Given the description of an element on the screen output the (x, y) to click on. 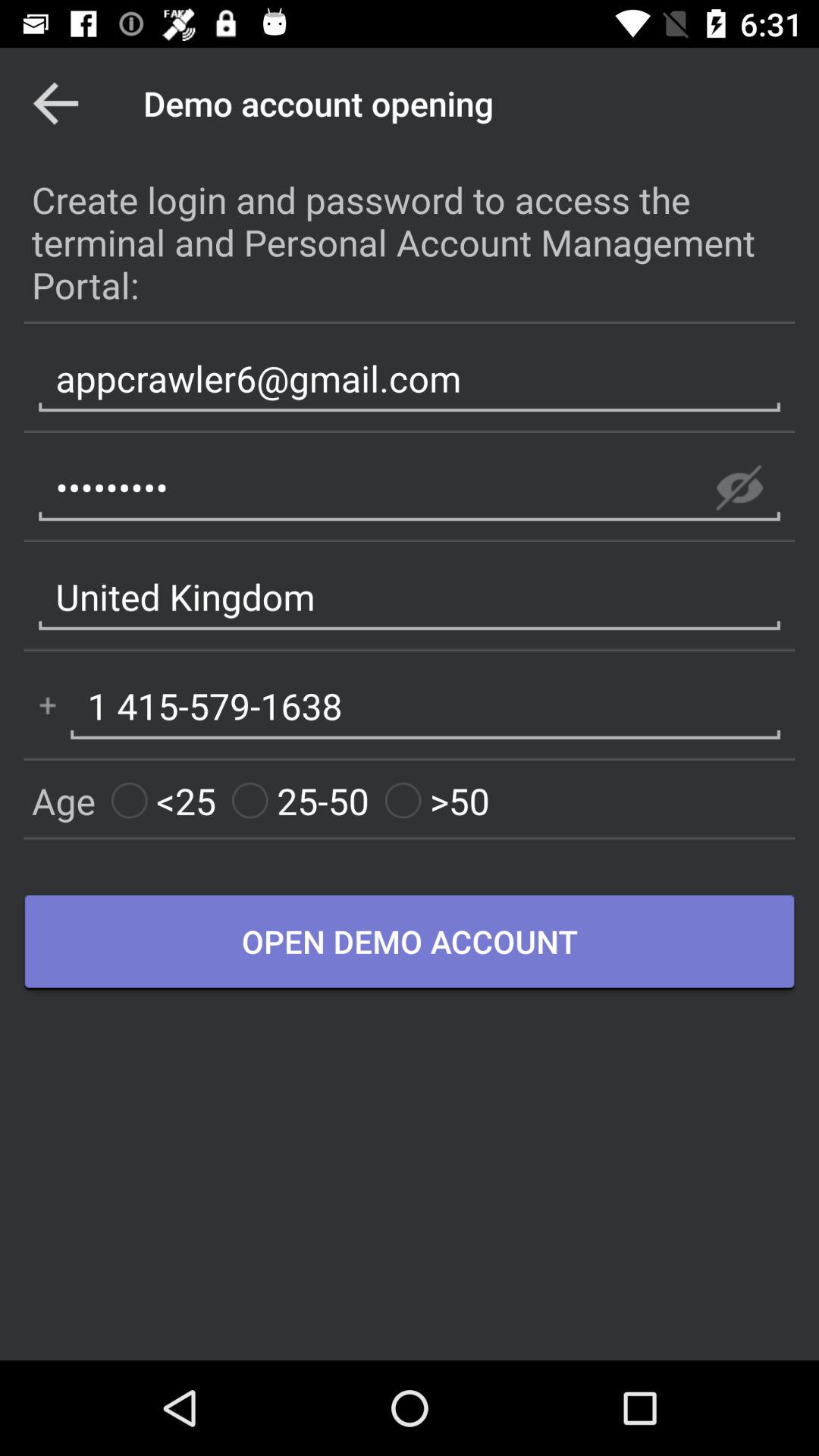
go back (55, 103)
